Given the description of an element on the screen output the (x, y) to click on. 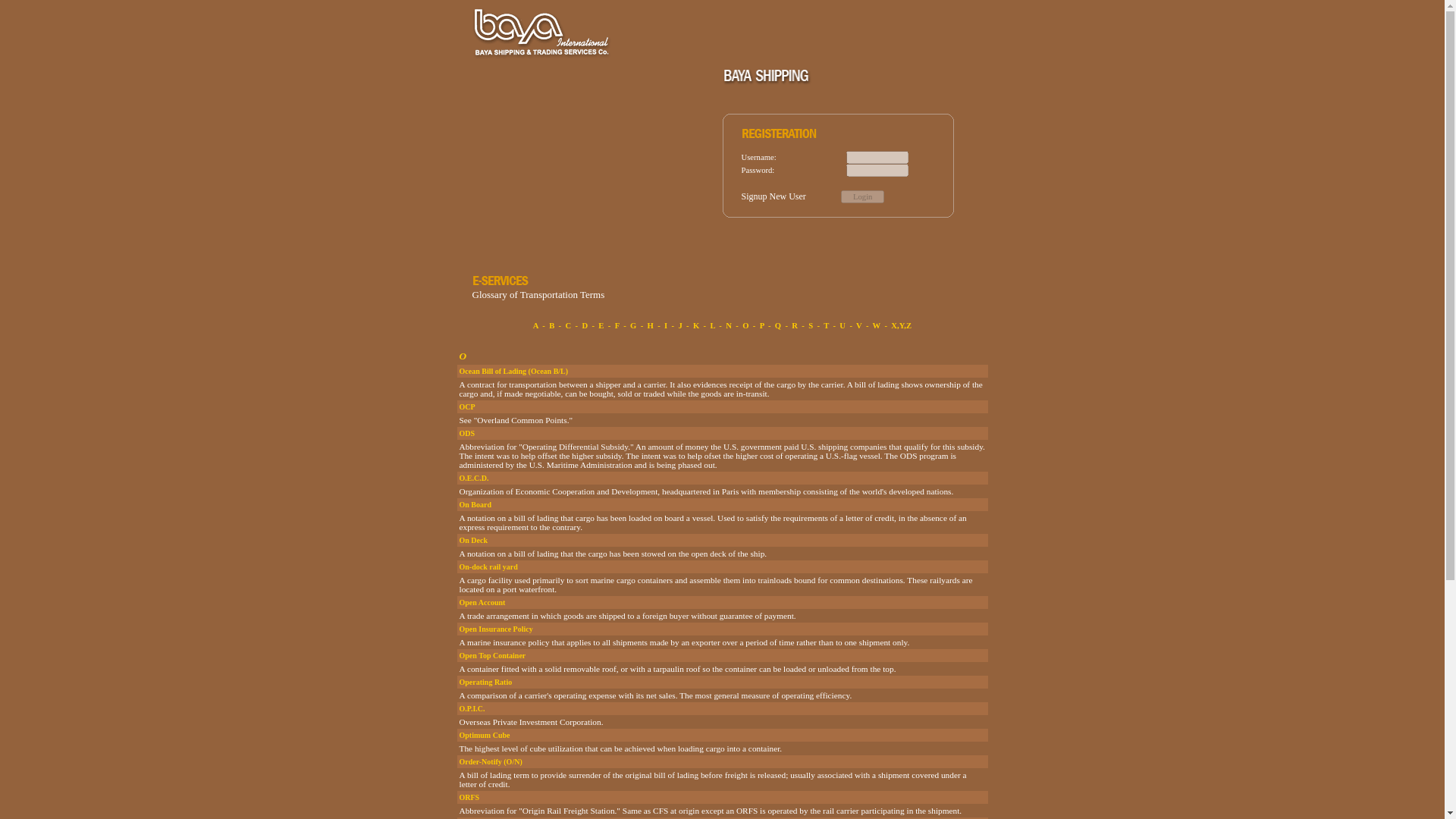
W (876, 325)
Signup New User (773, 195)
   Login    (862, 196)
X,Y,Z (901, 325)
   Login    (862, 196)
